Given the description of an element on the screen output the (x, y) to click on. 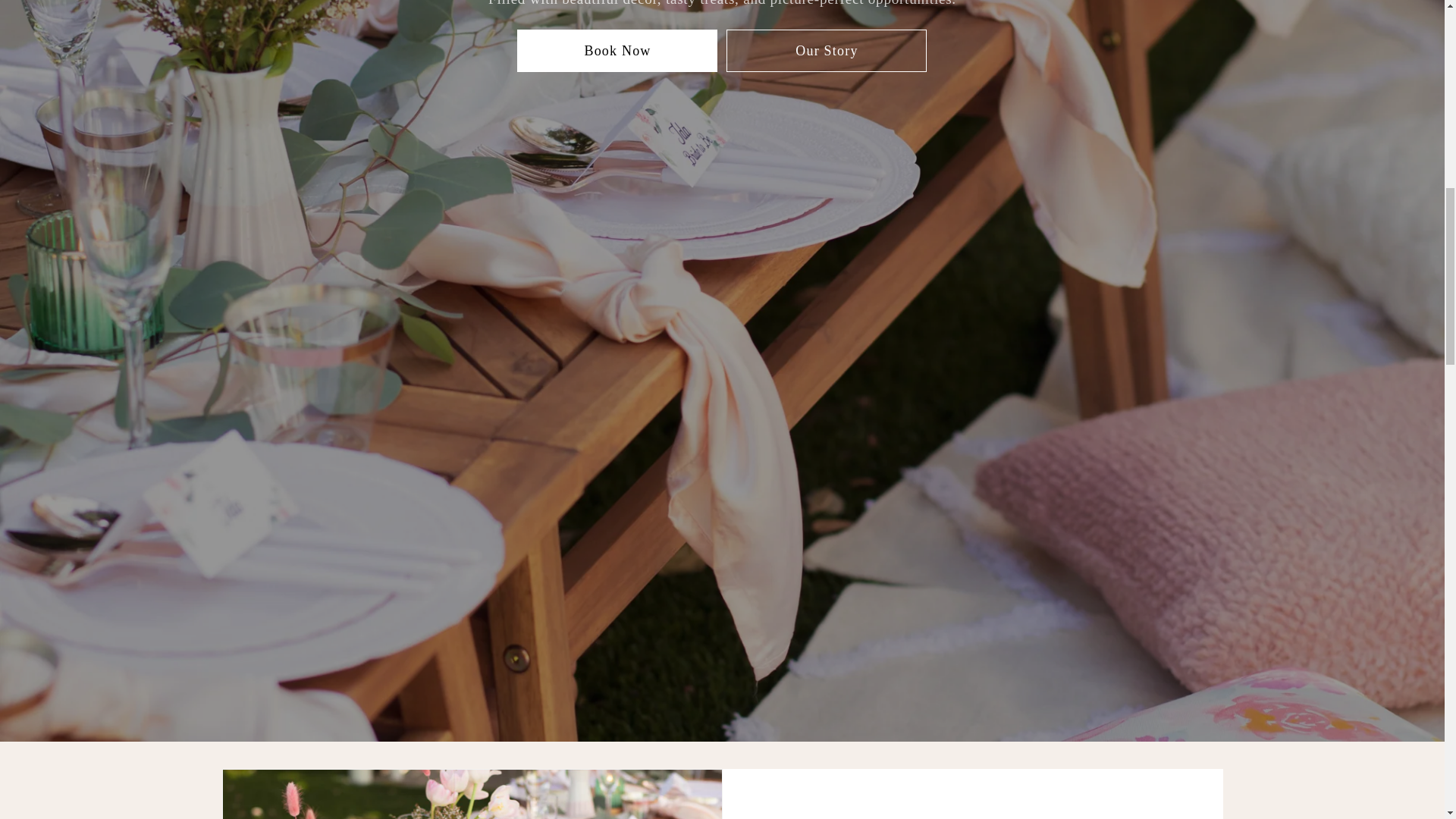
Book Now (616, 50)
Our Story (826, 50)
